Given the description of an element on the screen output the (x, y) to click on. 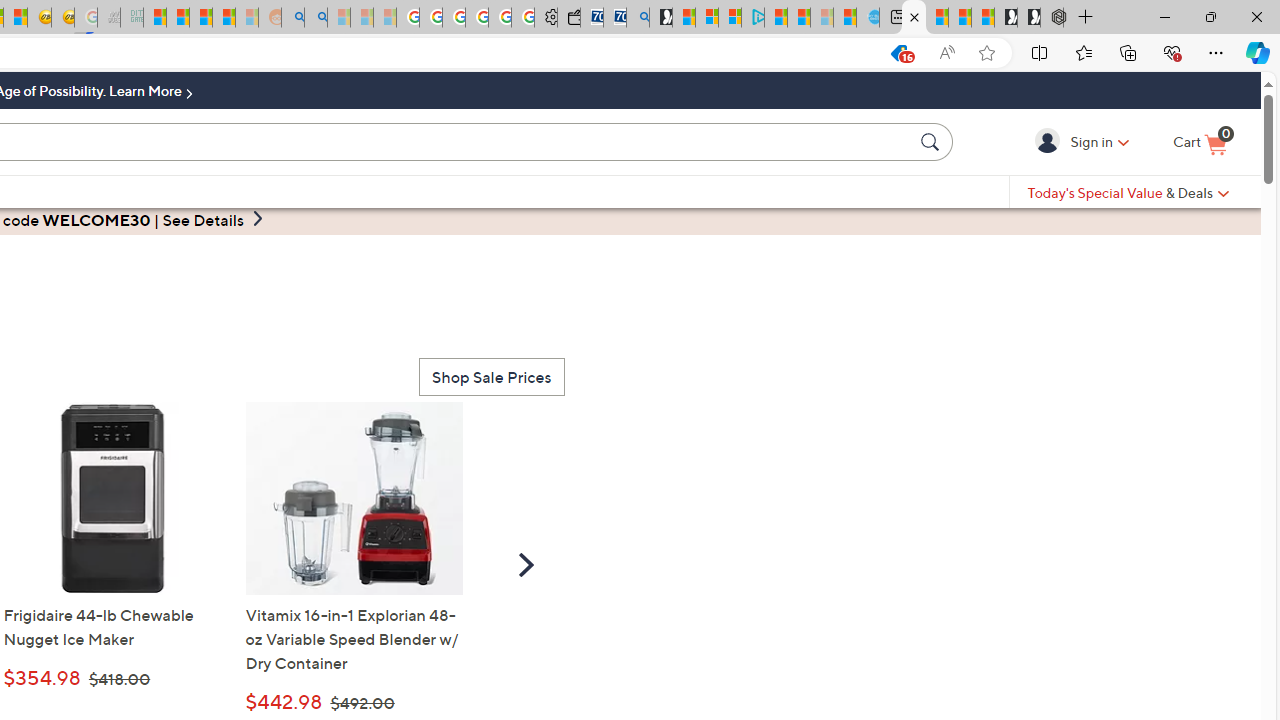
Scroll Right (525, 564)
Cart is Empty  (1199, 143)
